Given the description of an element on the screen output the (x, y) to click on. 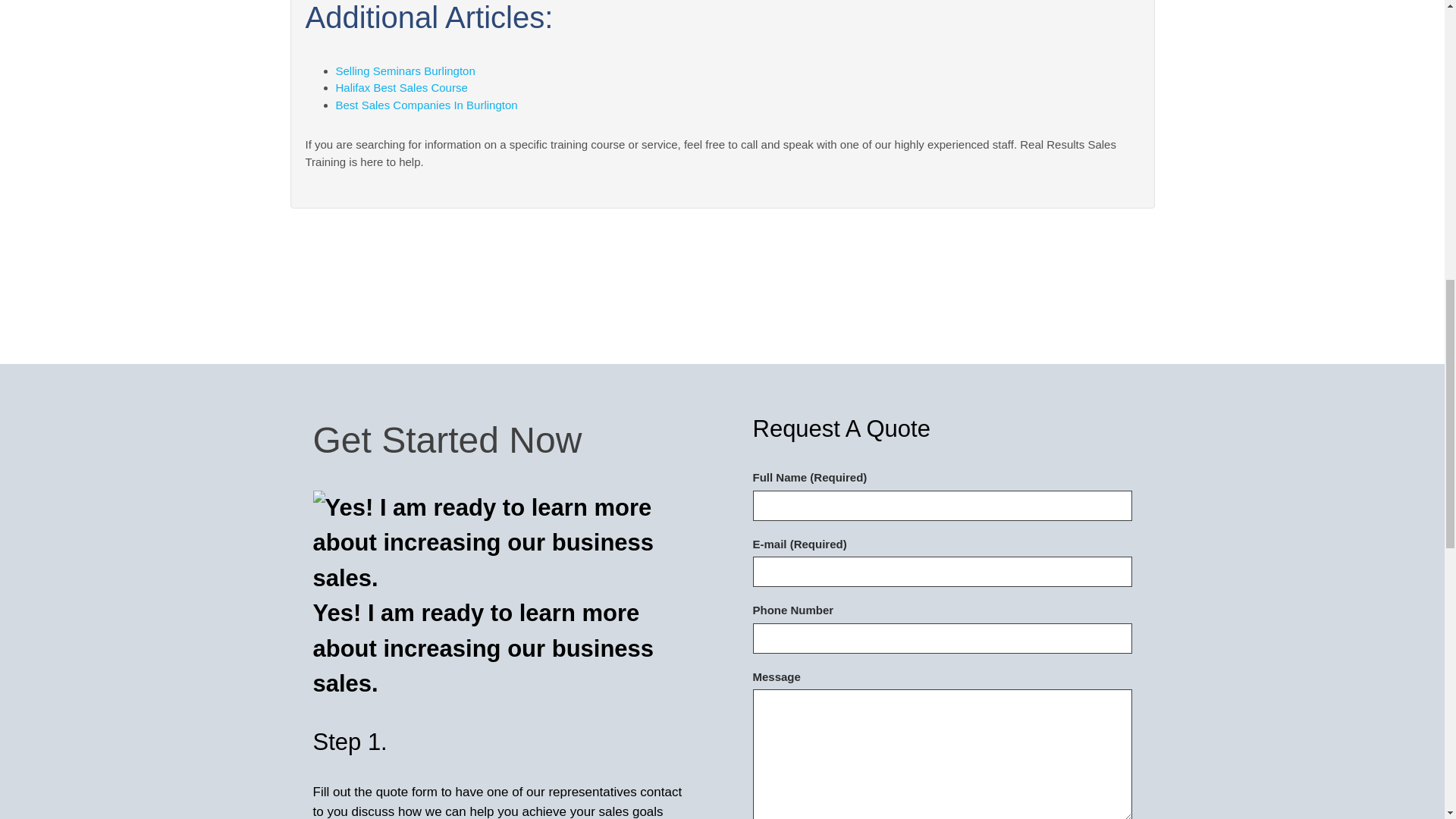
Selling Seminars Burlington (404, 70)
Halifax Best Sales Course (400, 87)
Selling Seminars Burlington (404, 70)
Best Sales Companies In Burlington (425, 104)
Halifax Best Sales Course (400, 87)
